Given the description of an element on the screen output the (x, y) to click on. 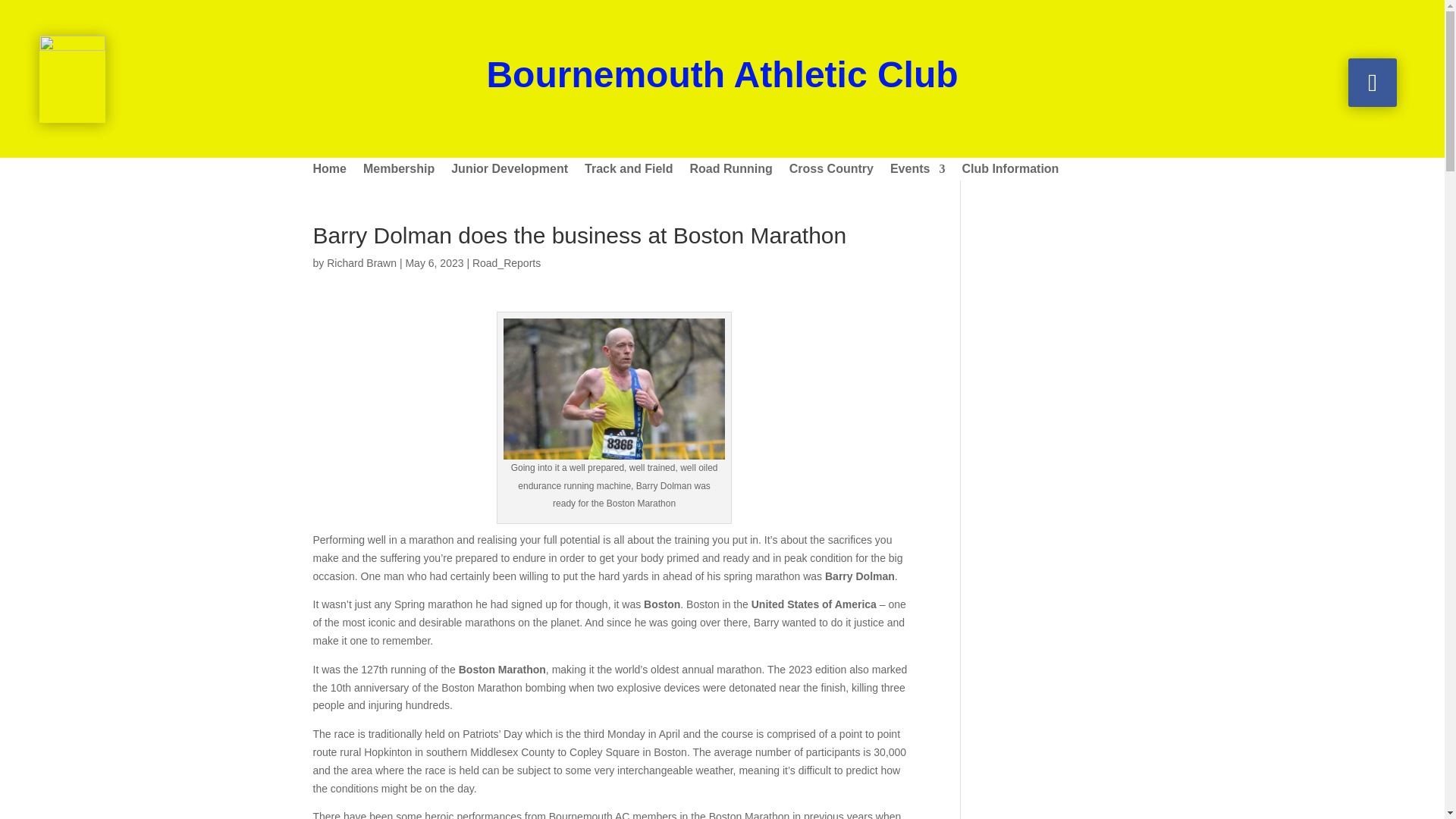
Junior Development (509, 171)
Membership (397, 171)
Club Information (1009, 171)
Events (916, 171)
Cross Country (831, 171)
Road Running (731, 171)
Follow on Facebook (1372, 82)
Events (916, 171)
Richard Brawn (361, 263)
Track and Field (628, 171)
Junior Development (509, 171)
Track and Field (628, 171)
Cross Country (831, 171)
Home (329, 171)
Home (329, 171)
